Given the description of an element on the screen output the (x, y) to click on. 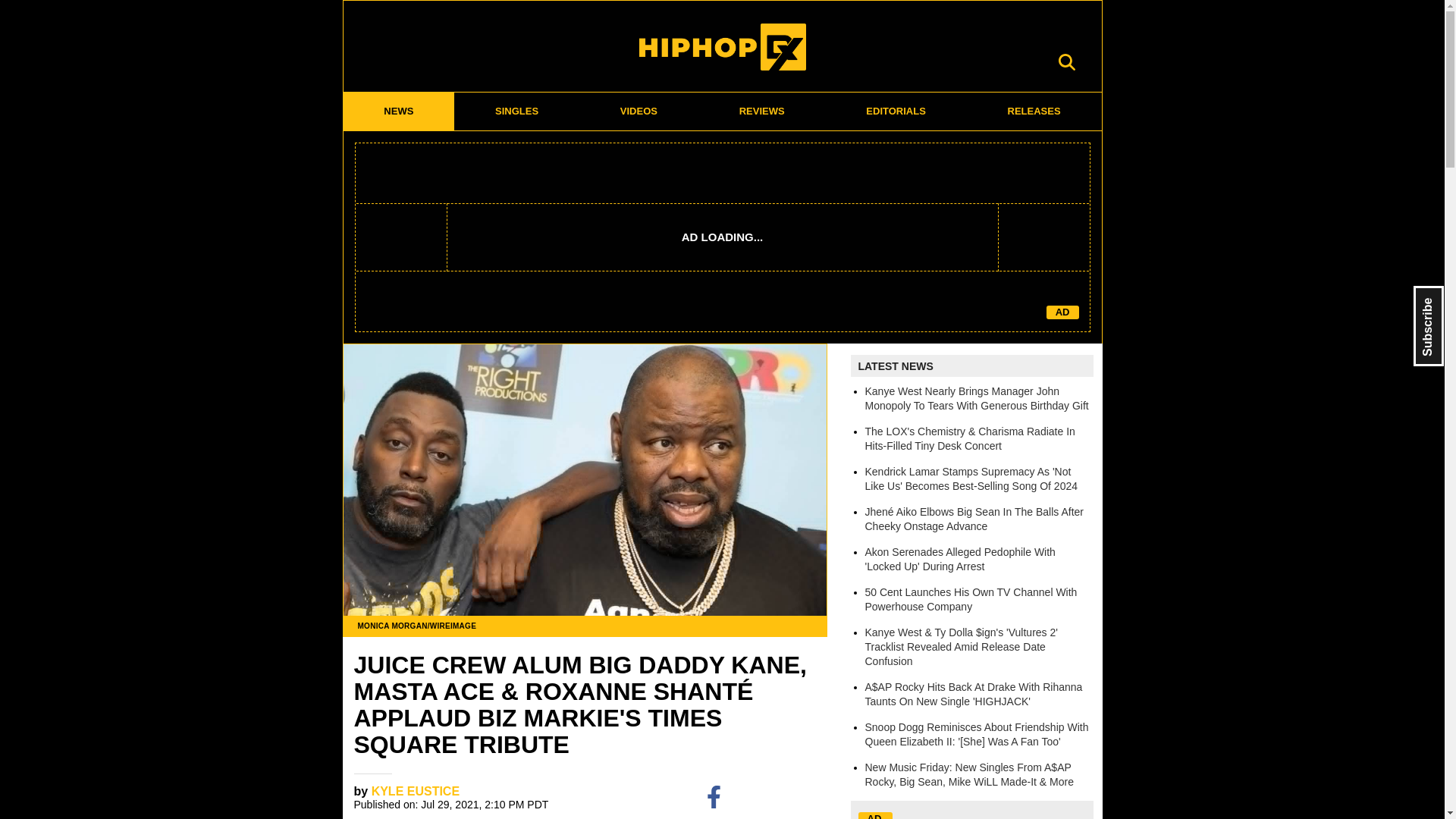
SINGLES (516, 111)
NEWS (398, 111)
VIDEOS (638, 111)
RELEASES (1034, 111)
2 (810, 796)
KYLE EUSTICE (415, 790)
EDITORIALS (895, 111)
REVIEWS (761, 111)
